Given the description of an element on the screen output the (x, y) to click on. 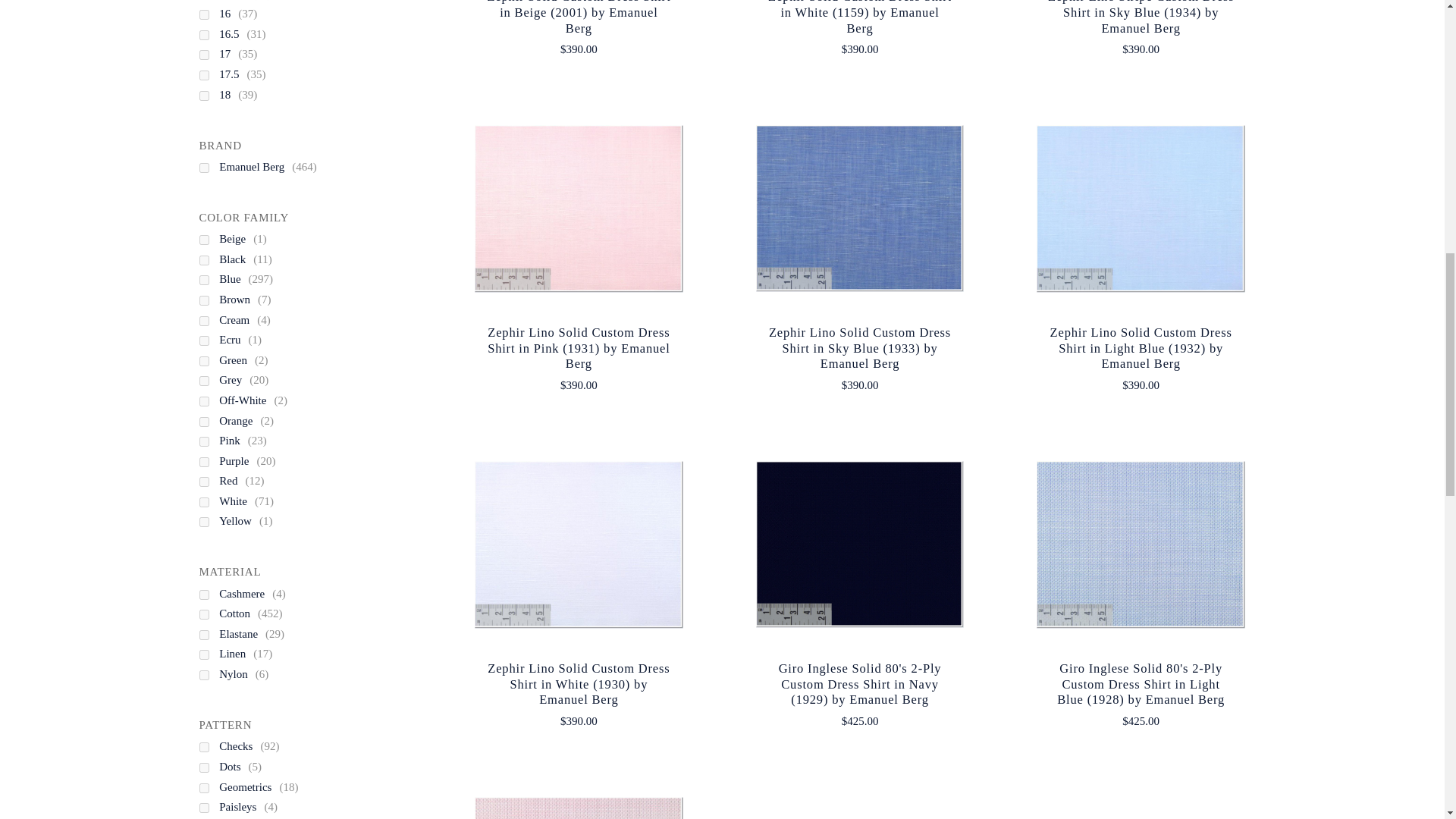
on (203, 461)
17 (232, 53)
on (203, 239)
on (203, 300)
16 (232, 13)
17.5 (237, 74)
Cream (242, 320)
on (203, 320)
on (203, 95)
on (203, 441)
on (203, 421)
Emanuel Berg (259, 166)
on (203, 35)
15.75 (240, 2)
on (203, 401)
